Given the description of an element on the screen output the (x, y) to click on. 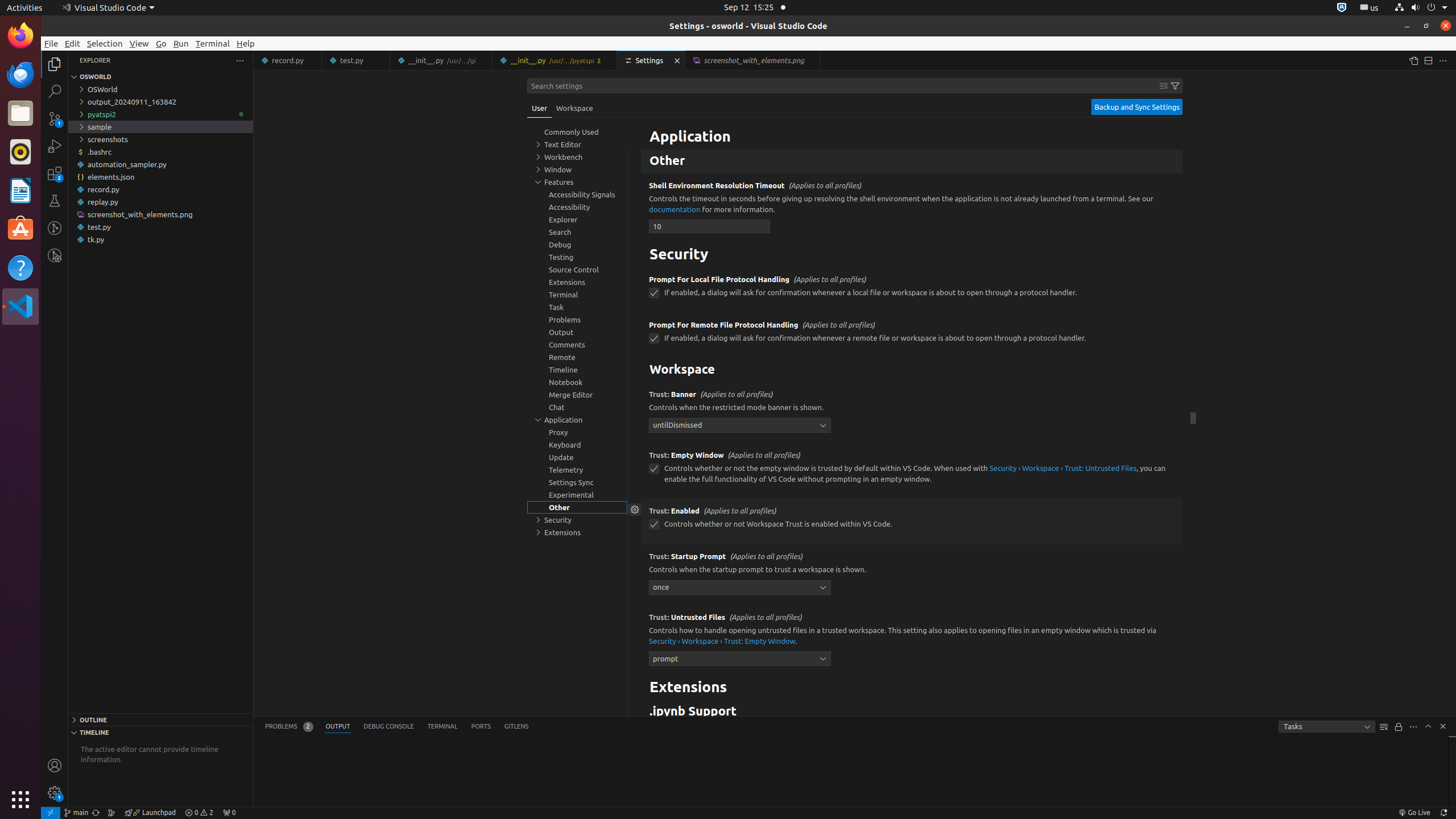
documentation Element type: link (674, 208)
Remote, group Element type: tree-item (577, 356)
record.py Element type: tree-item (160, 189)
 Shell Environment Resolution Timeout. Setting value retained when switching profiles. Controls the timeout in seconds before giving up resolving the shell environment when the application is not already launched from a terminal. See our documentation for more information.  Element type: tree-item (911, 208)
untilDismissed Element type: menu-item (739, 424)
